Given the description of an element on the screen output the (x, y) to click on. 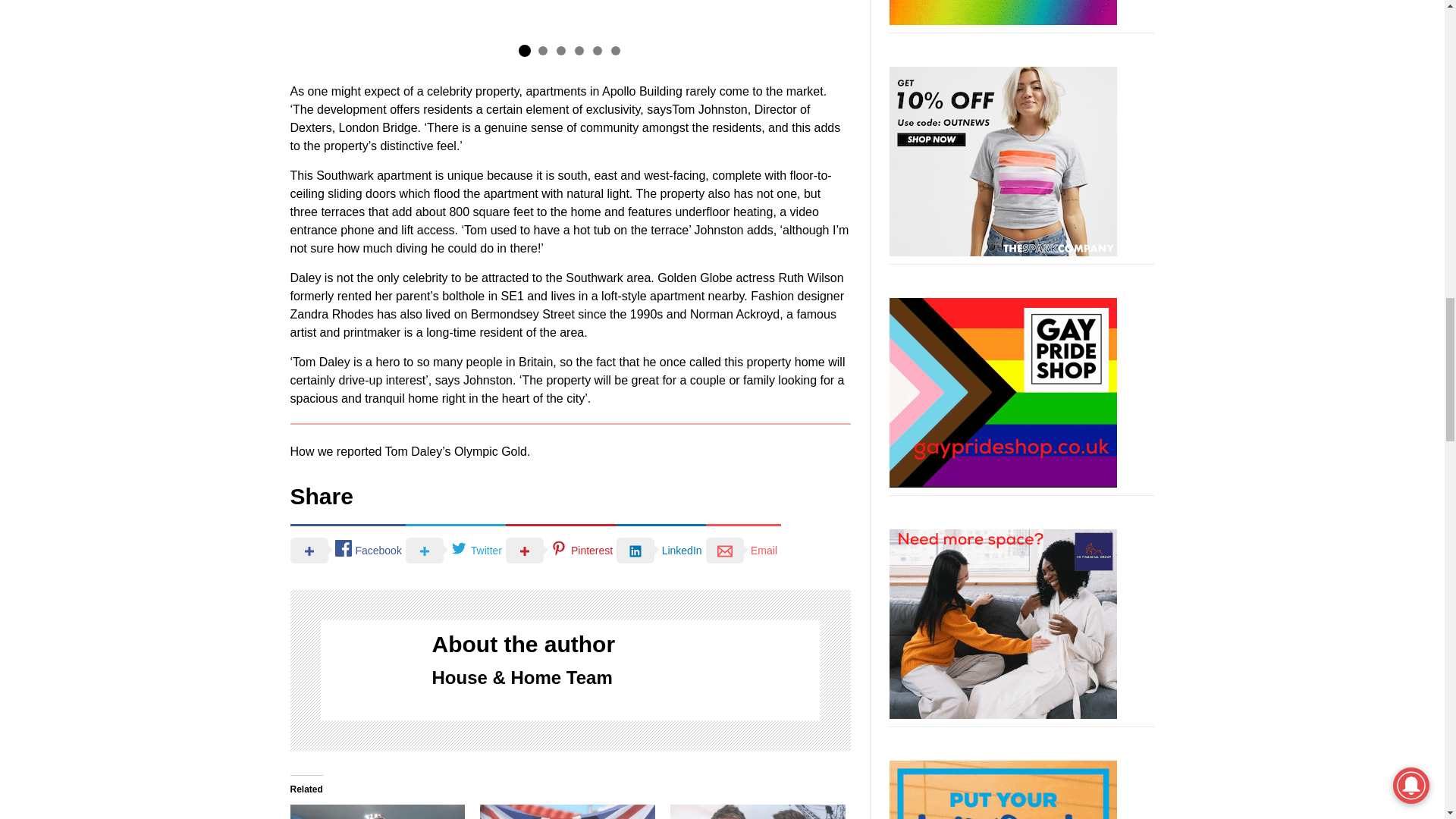
Tom Daley Announces Engagement to Dustin Lance Black (757, 811)
Joy and tears as Tom Daley wins his first Olympic gold. (567, 811)
Tom Daley and Dan Goodfellow win Olympic bronze medal (376, 811)
